Given the description of an element on the screen output the (x, y) to click on. 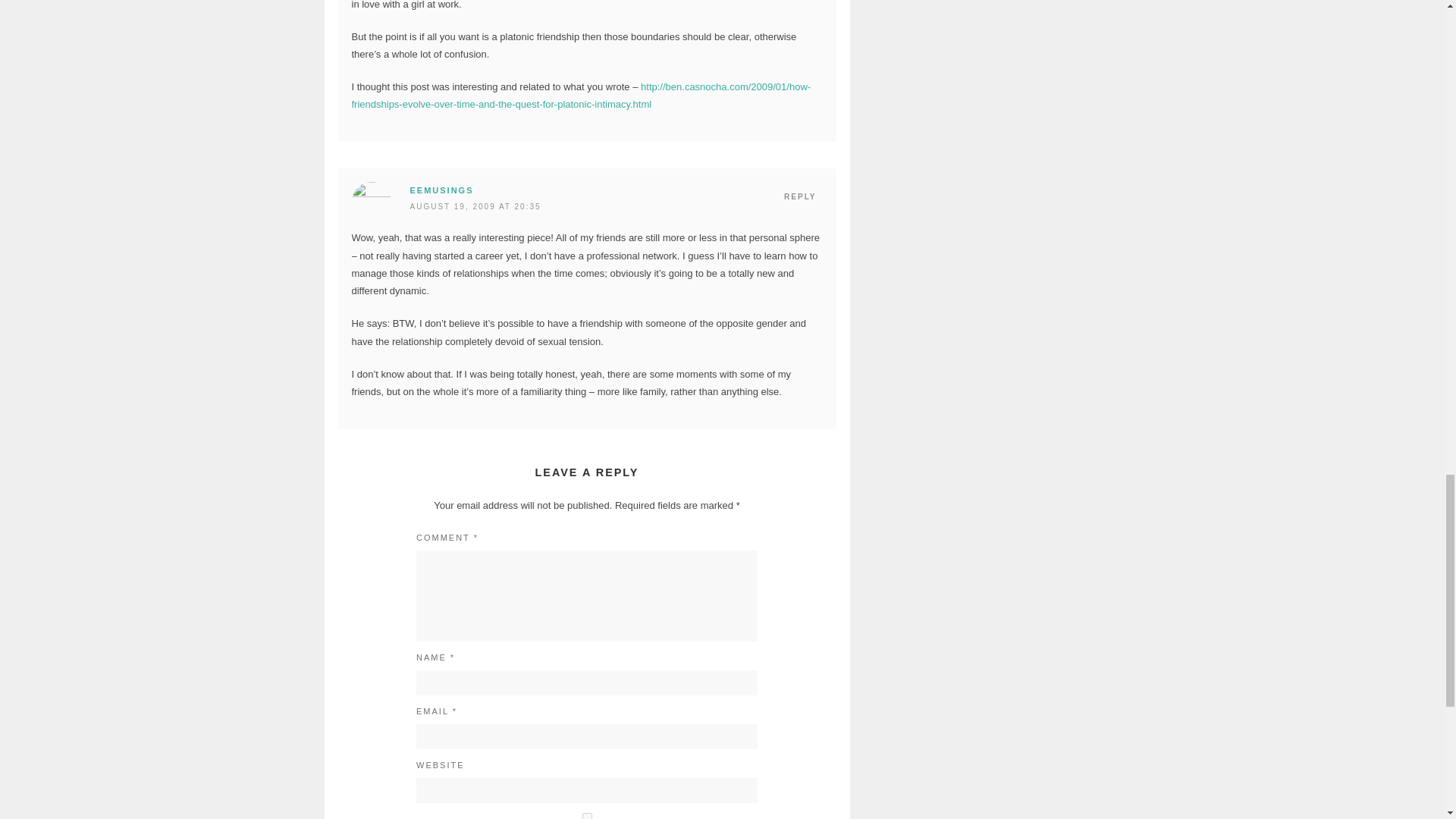
REPLY (799, 196)
yes (587, 816)
EEMUSINGS (441, 189)
